Given the description of an element on the screen output the (x, y) to click on. 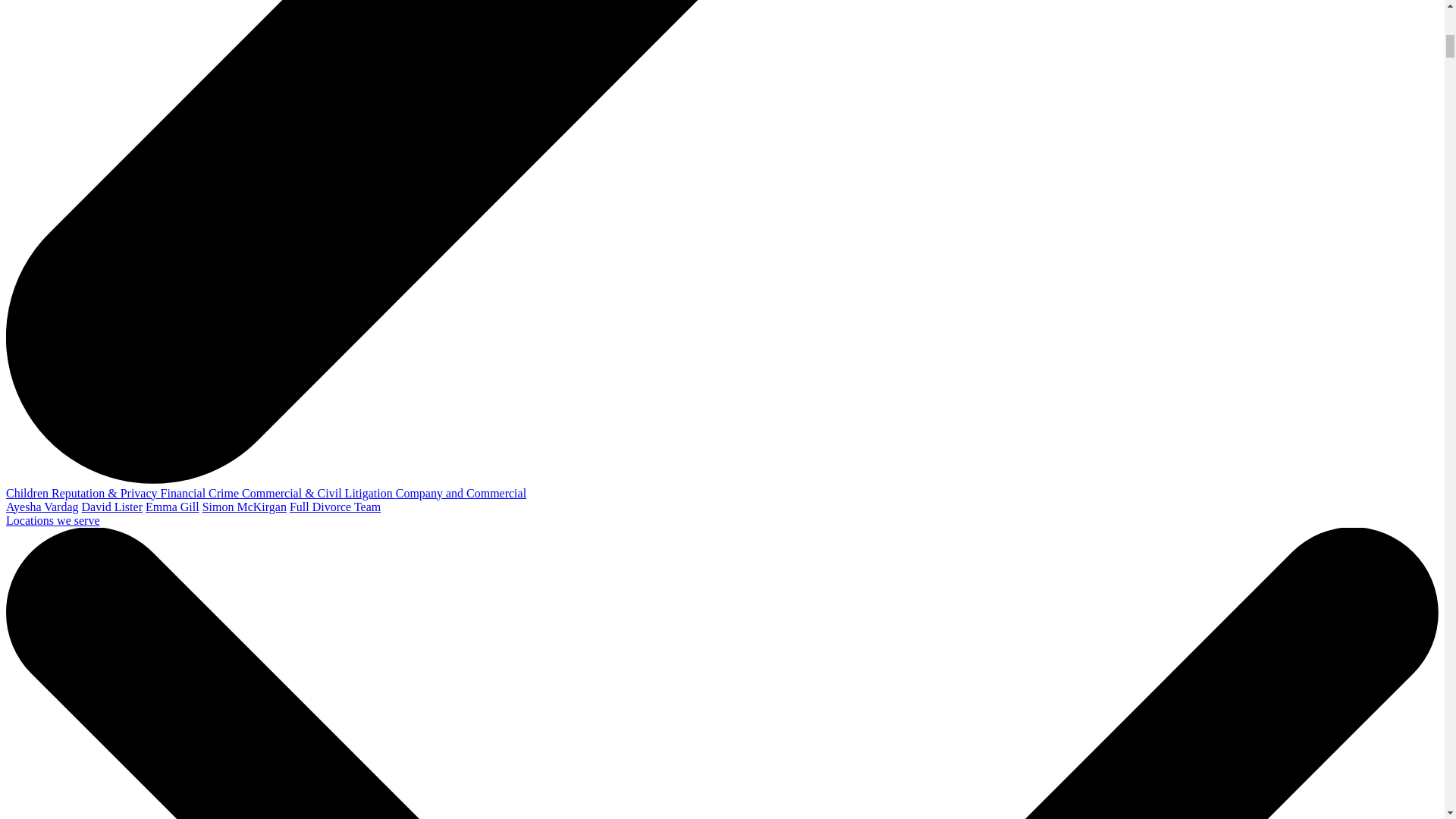
Children (27, 492)
Ayesha Vardag (41, 506)
Company and Commercial (460, 492)
Simon McKirgan (244, 506)
Company and Commercial (460, 492)
Full Divorce Team (334, 506)
David Lister (111, 506)
Financial Crime (201, 492)
David Lister (111, 506)
Full Divorce Team (334, 506)
Emma Gill (172, 506)
Financial Crime (201, 492)
Simon McKirgan (244, 506)
Ayesha Vardag (41, 506)
Children (27, 492)
